Given the description of an element on the screen output the (x, y) to click on. 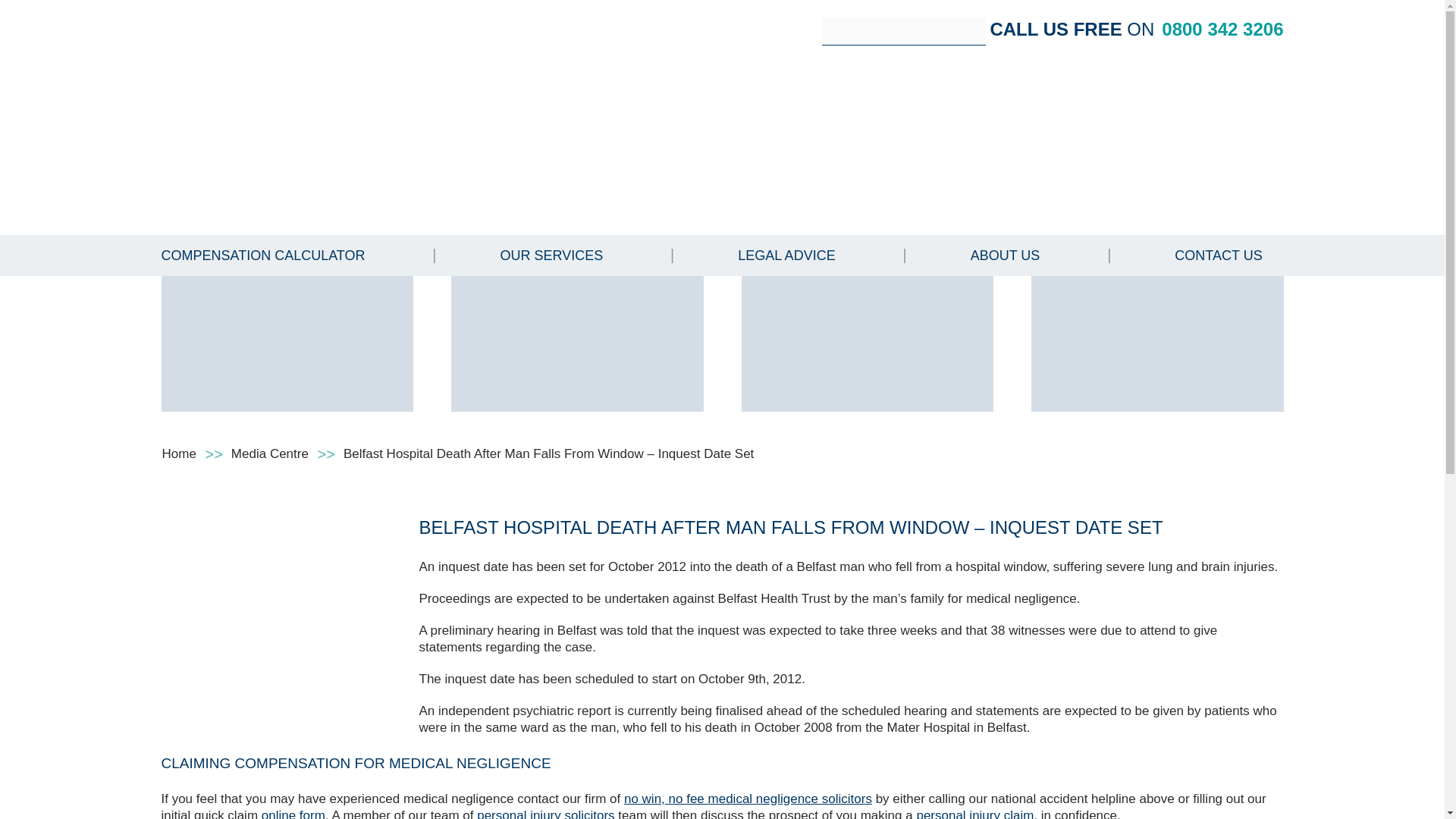
OUR SERVICES (552, 255)
Jefferies Solicitors (266, 115)
0800 342 3206 (1221, 28)
COMPENSATION CALCULATOR (262, 255)
